Given the description of an element on the screen output the (x, y) to click on. 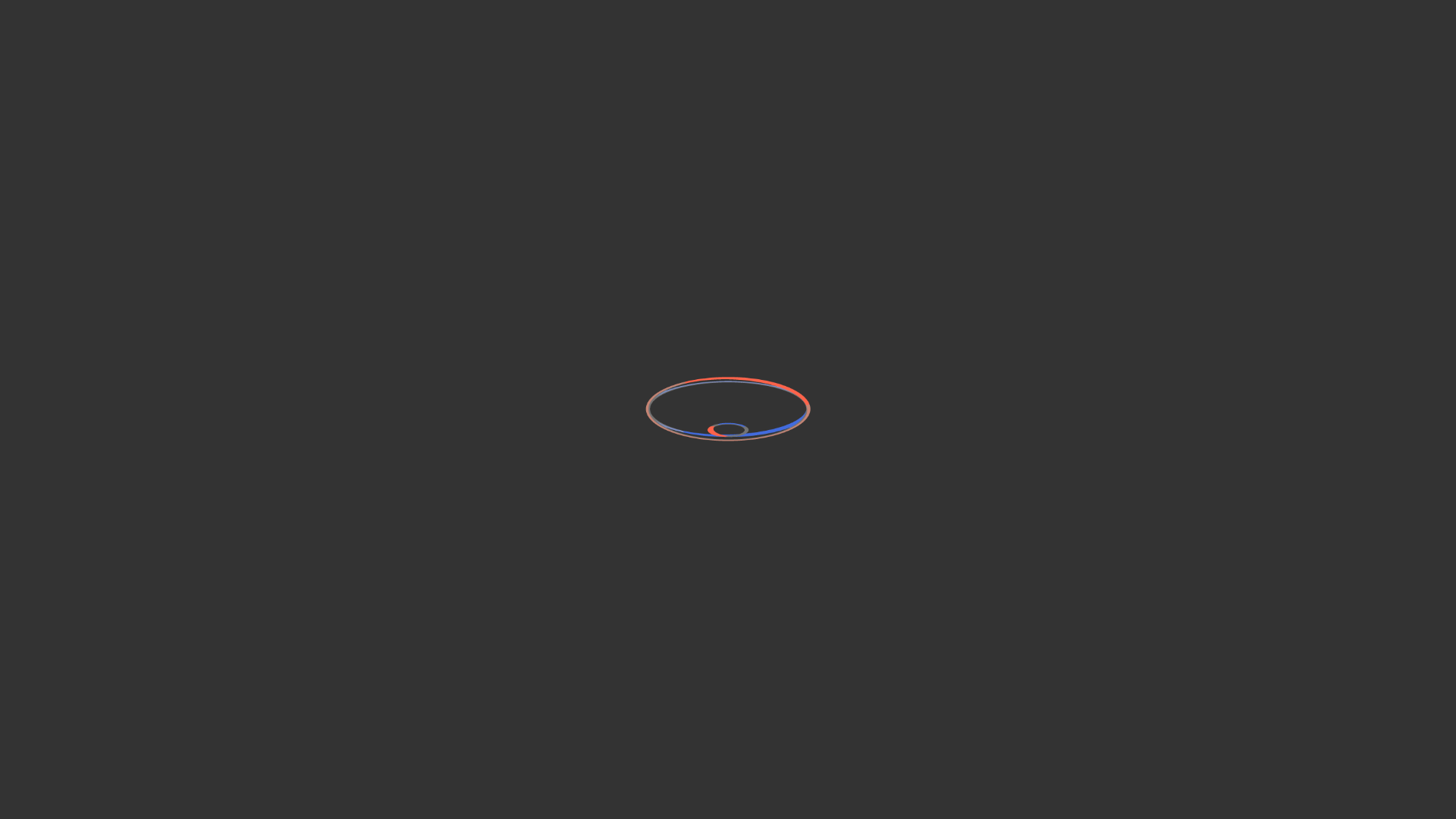
CERN Archives Element type: text (655, 631)
Documents Element type: text (354, 241)
Requirements Element type: text (361, 371)
e-mail Element type: text (399, 651)
+41 22 767 4270 Element type: text (335, 651)
Current List Element type: text (356, 461)
EXPERIMENT COMMITTEES Element type: text (1030, 43)
REC Home Element type: text (344, 108)
Participants at CERN Element type: text (376, 431)
Scientific Committees Element type: text (143, 39)
Conditions Element type: text (924, 650)
Sign in Element type: text (1311, 14)
Copyright Element type: text (700, 739)
CERN Element type: hover (1124, 577)
Minutes Element type: text (346, 223)
RESOURCES REVIEWS Element type: text (1201, 43)
Calendar Element type: text (534, 611)
HOME Element type: text (904, 43)
CERN Accelerating science Element type: text (142, 14)
Skip to main content Element type: text (0, 0)
Directory Element type: text (1361, 14)
Agenda Element type: text (345, 172)
Members' List Element type: text (360, 189)
General Conditions Element type: text (945, 611)
Application Procedure Element type: text (382, 401)
The RE Status Element type: text (360, 341)
SECRETARIAT Element type: text (1331, 43)
